Given the description of an element on the screen output the (x, y) to click on. 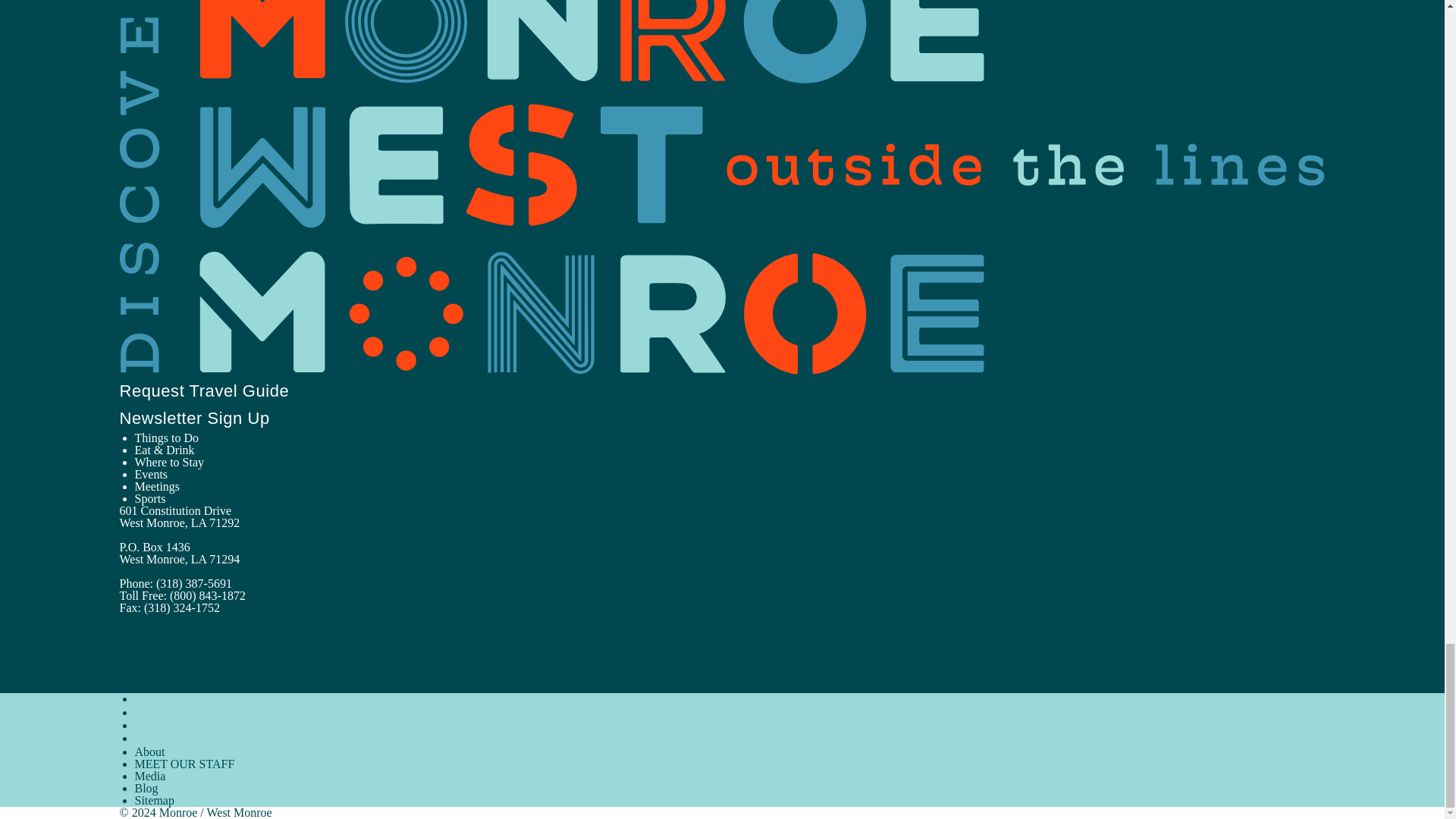
Events (151, 473)
Meetings (157, 486)
Newsletter Sign Up (202, 417)
Sports (150, 498)
Where to Stay (170, 461)
Things to Do (166, 437)
MEET OUR STAFF (184, 763)
Request Travel Guide (212, 390)
About (150, 751)
